Given the description of an element on the screen output the (x, y) to click on. 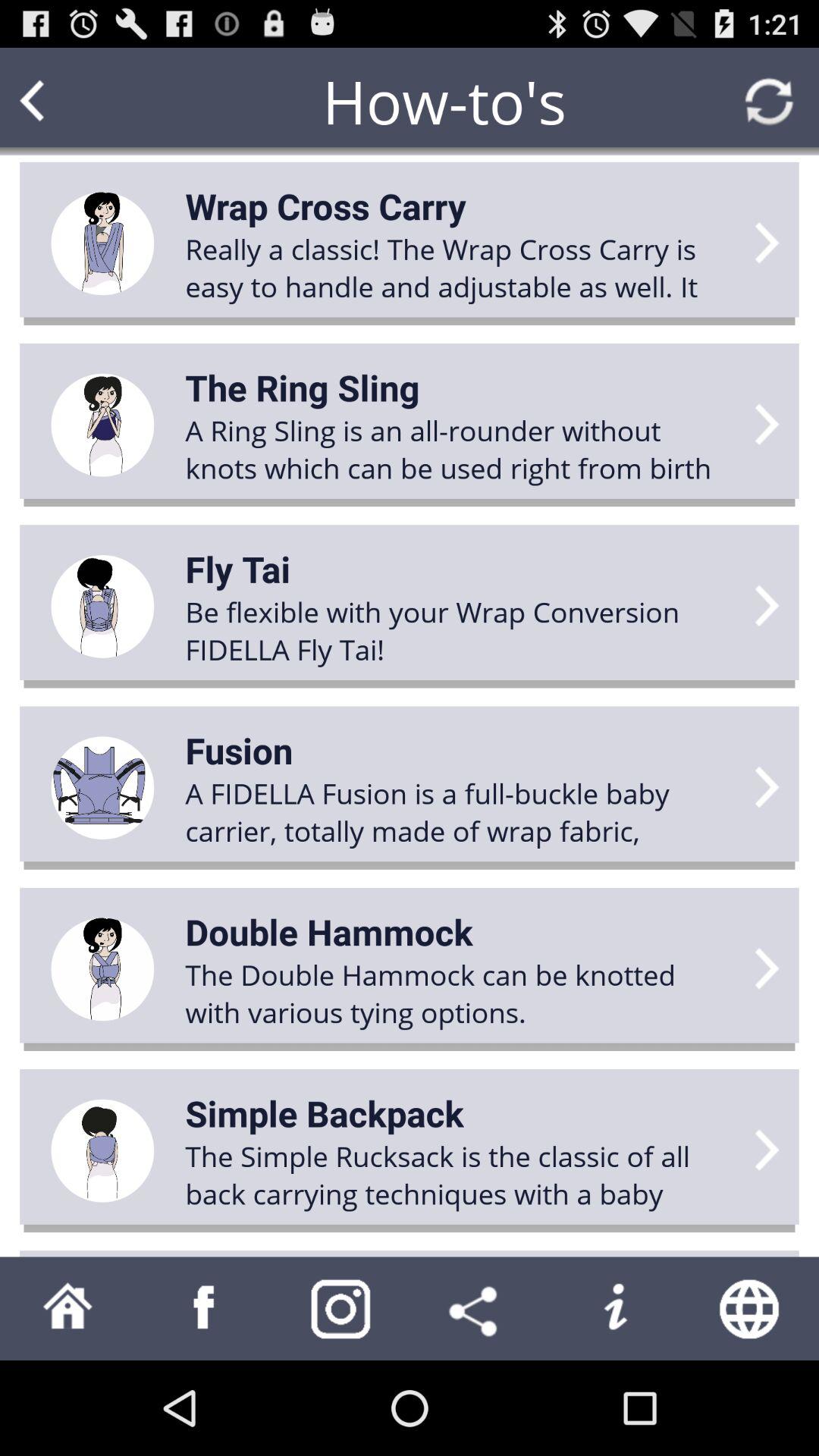
share how-to 's (477, 1308)
